Given the description of an element on the screen output the (x, y) to click on. 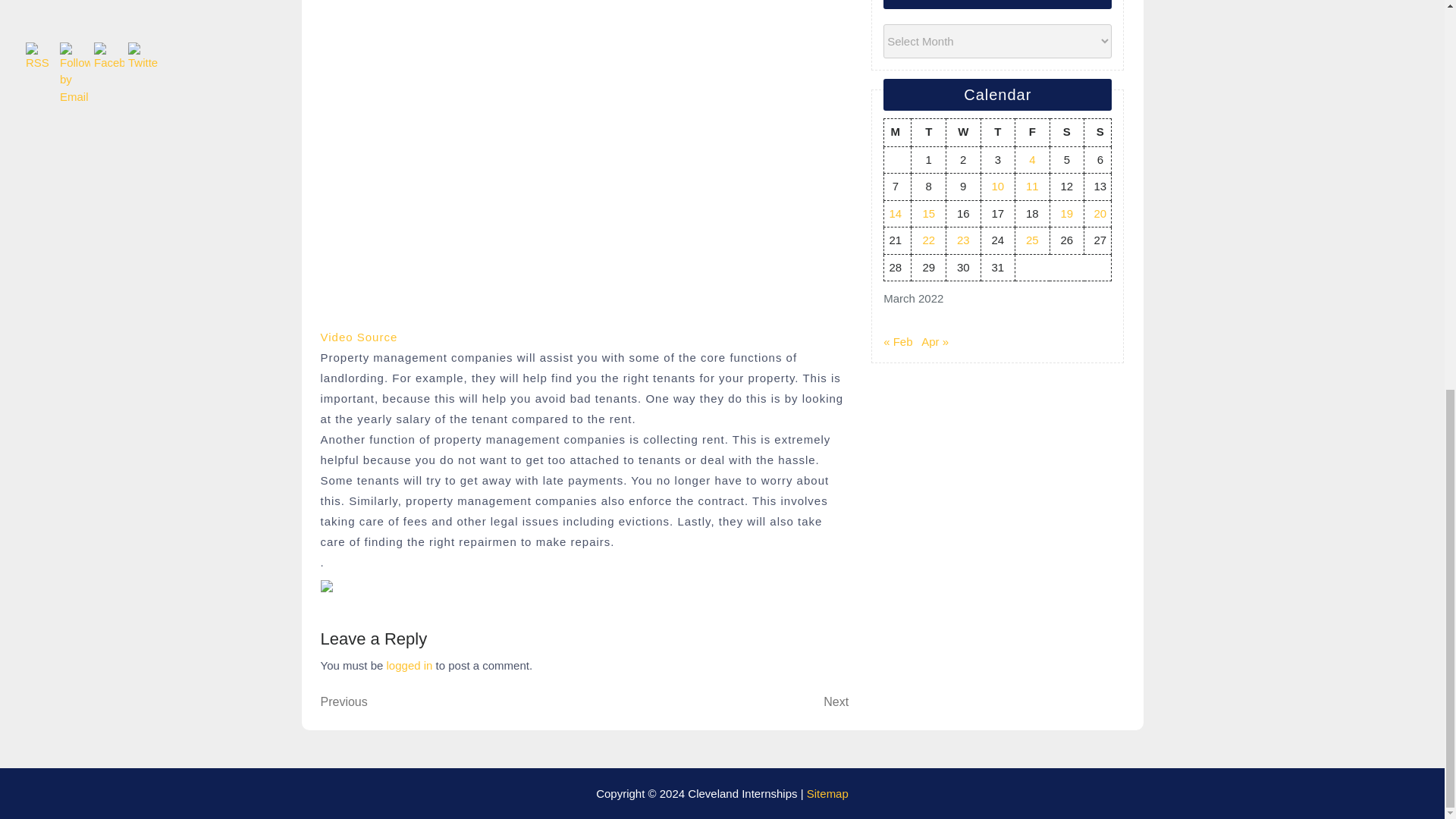
23 (962, 239)
15 (927, 213)
Sunday (1098, 131)
logged in (409, 665)
Thursday (996, 131)
Twitter (143, 56)
19 (1067, 213)
25 (1032, 239)
RSS (716, 701)
